Given the description of an element on the screen output the (x, y) to click on. 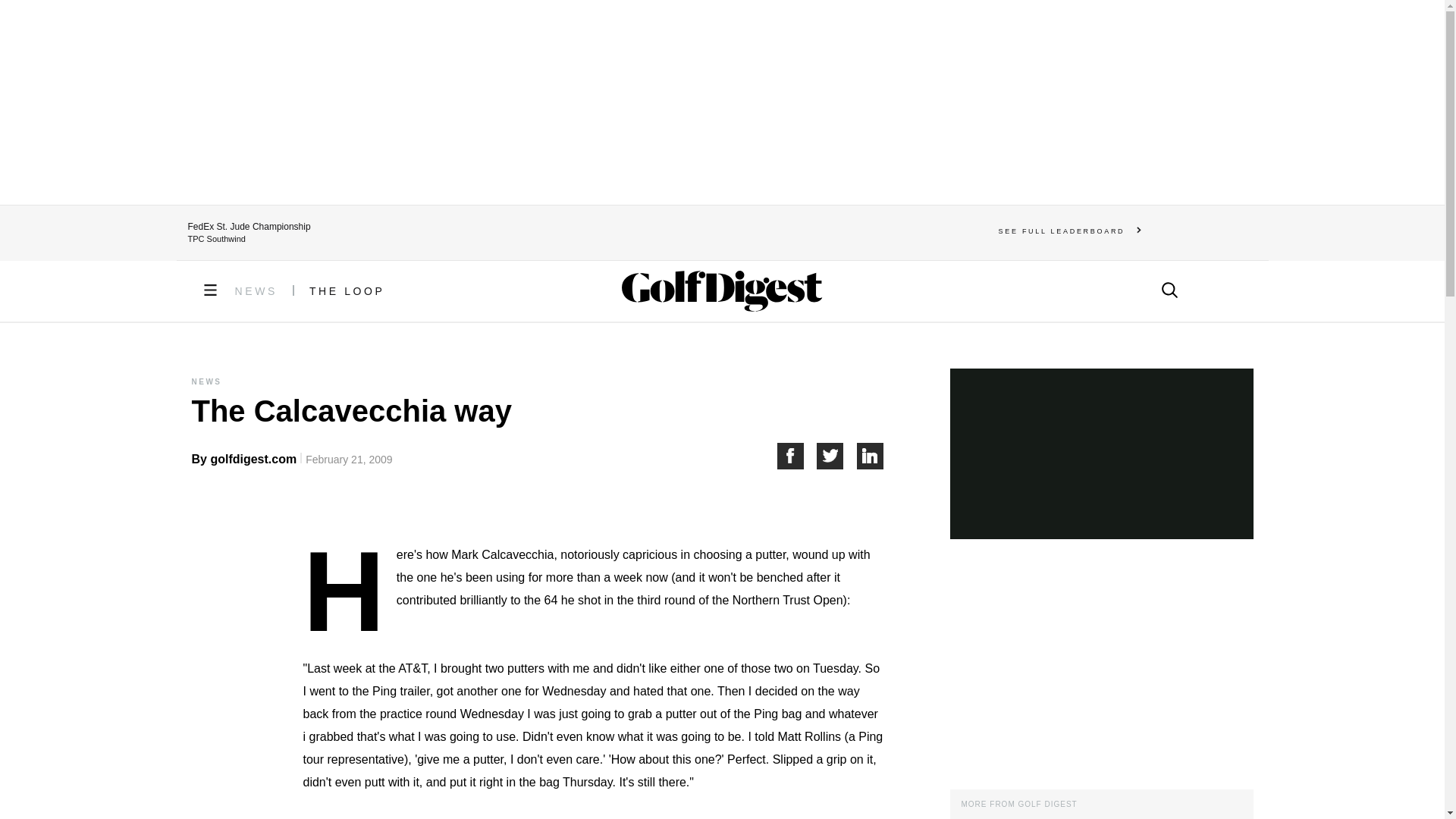
Share on Twitter (836, 456)
Share on Facebook (796, 456)
SEE FULL LEADERBOARD (1069, 230)
NEWS (256, 291)
THE LOOP (346, 291)
Share on LinkedIn (870, 456)
